Given the description of an element on the screen output the (x, y) to click on. 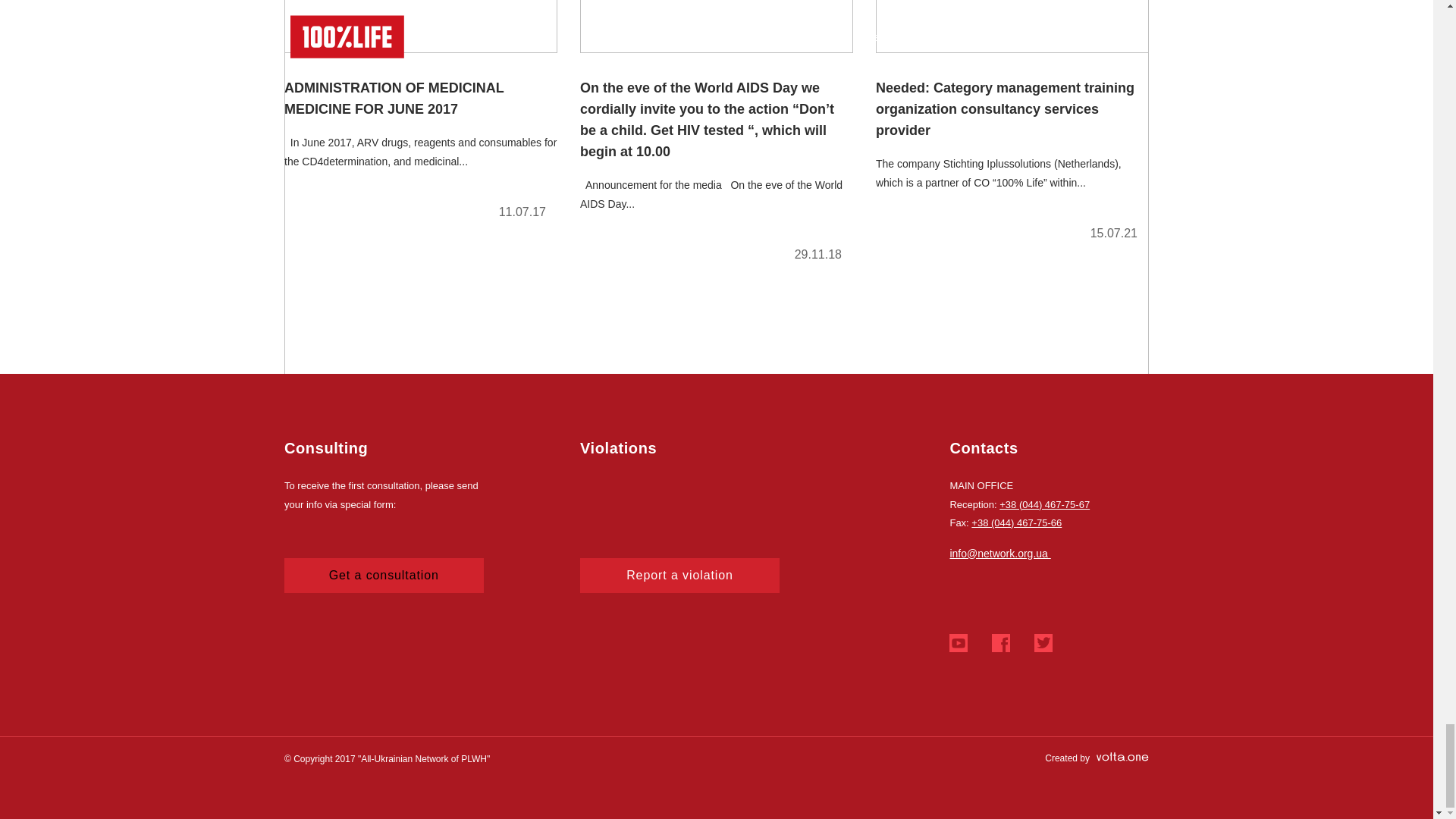
Created by (1096, 757)
ADMINISTRATION OF MEDICINAL MEDICINE FOR JUNE 2017 (420, 116)
Report a violation (678, 574)
Get a consultation (383, 574)
Get a consultation (383, 574)
Report a violation (678, 574)
